Given the description of an element on the screen output the (x, y) to click on. 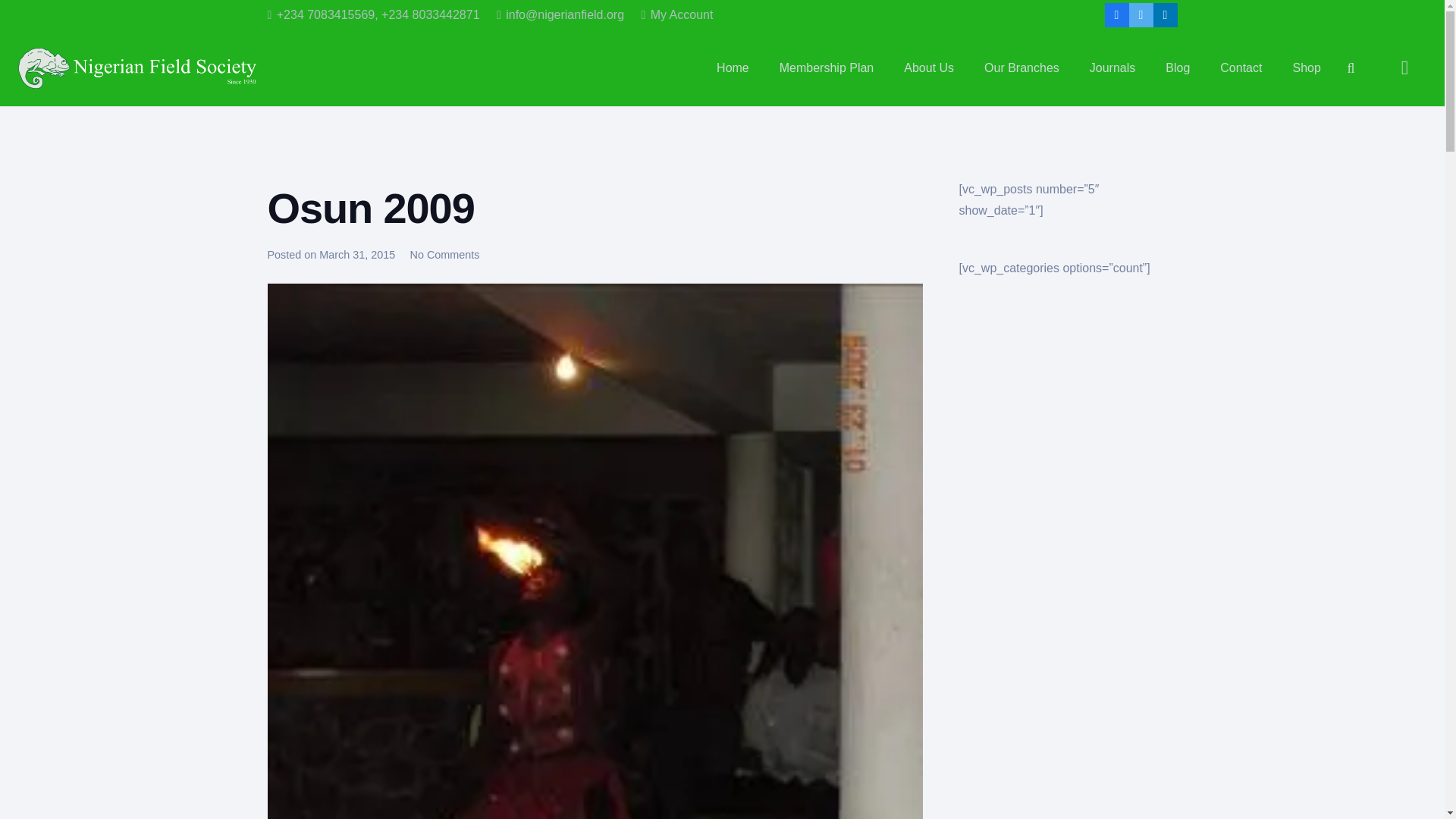
Contact (1240, 68)
Our Branches (1021, 68)
About Us (928, 68)
LinkedIn (1164, 15)
Membership Plan (826, 68)
My Account (676, 14)
Journals (1112, 68)
Facebook (1115, 15)
No Comments (444, 254)
Twitter (1140, 15)
No Comments (444, 254)
